Given the description of an element on the screen output the (x, y) to click on. 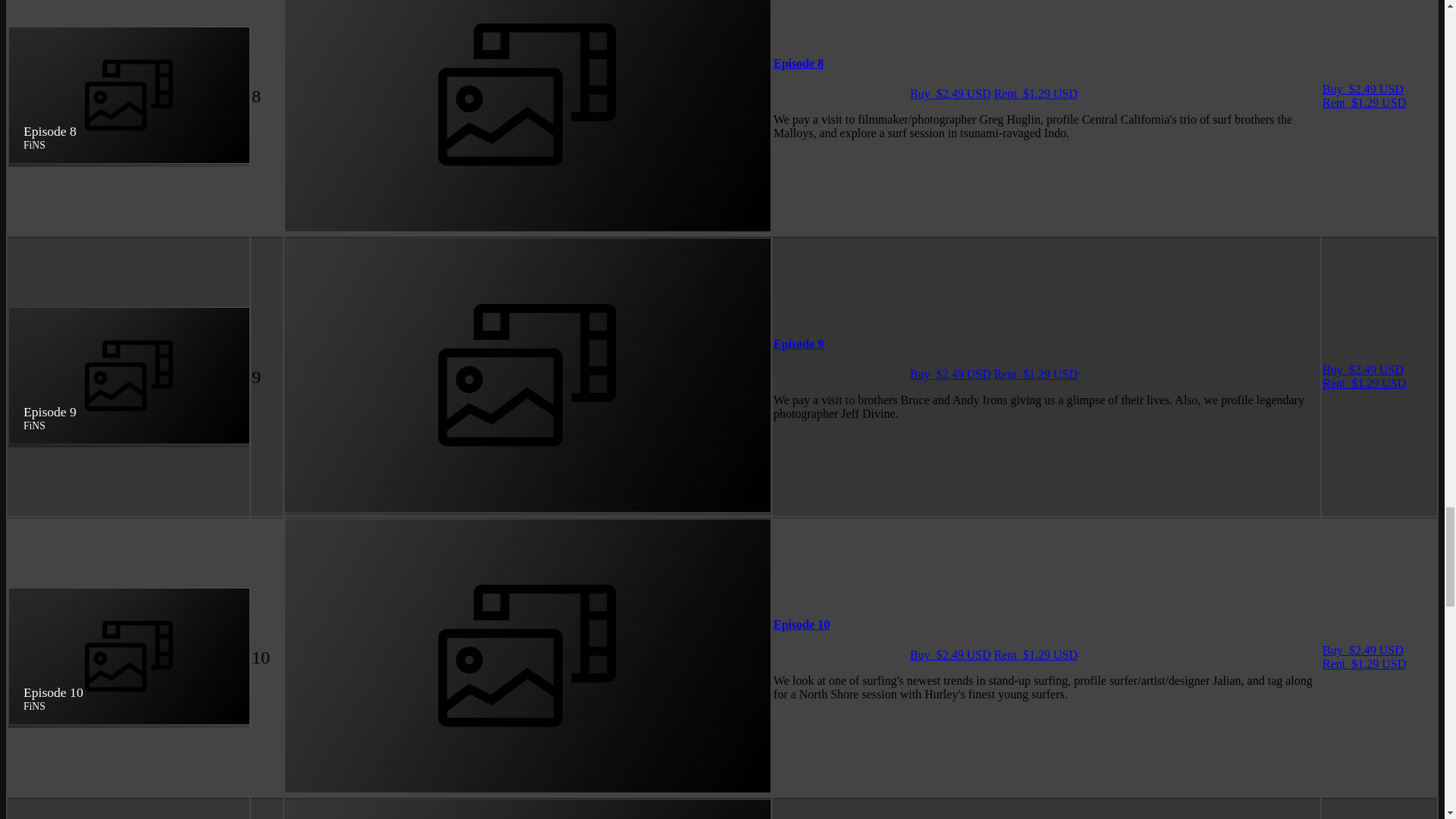
Episode  10 (801, 624)
Episode  9 (798, 343)
Episode  8 (798, 62)
